Given the description of an element on the screen output the (x, y) to click on. 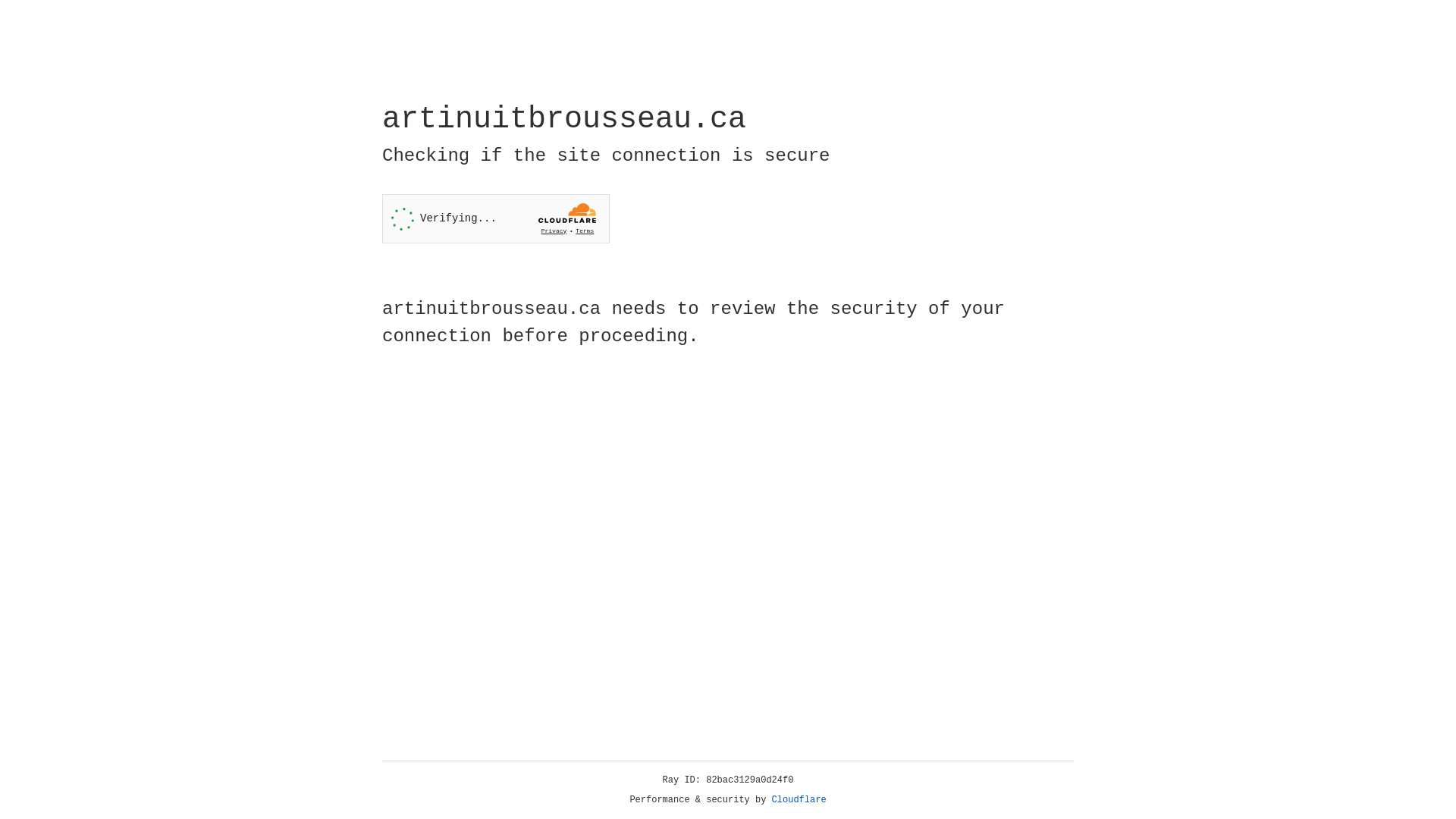
Cloudflare Element type: text (798, 799)
Widget containing a Cloudflare security challenge Element type: hover (495, 218)
